Given the description of an element on the screen output the (x, y) to click on. 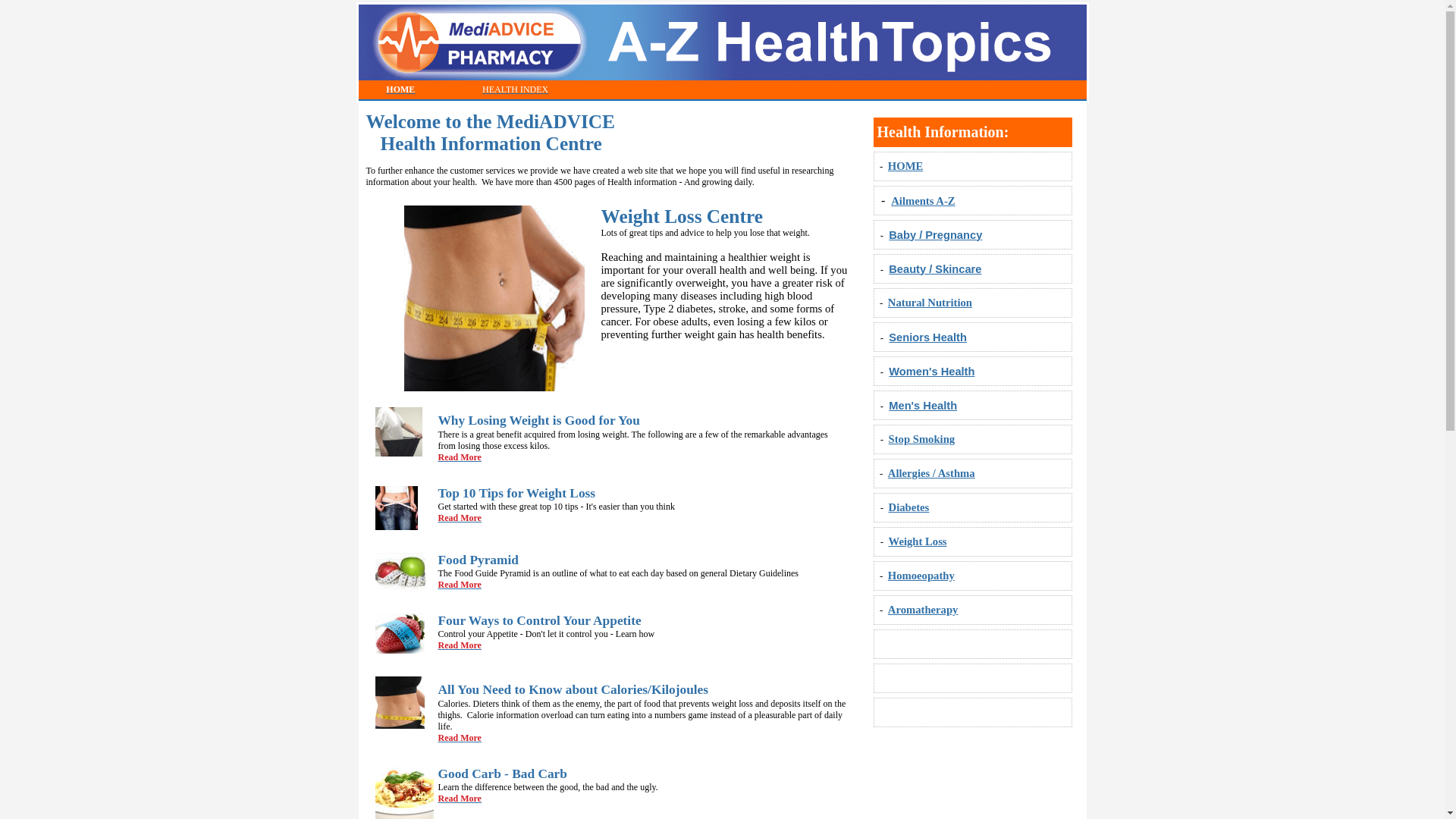
Read More Element type: text (459, 584)
Read More Element type: text (459, 645)
Homoeopathy Element type: text (921, 575)
Natural Nutrition Element type: text (930, 302)
HOME Element type: text (905, 166)
HOME Element type: text (399, 87)
y Element type: text (978, 235)
Baby / Pregnanc Element type: text (931, 235)
Women's Health Element type: text (931, 371)
Seniors Health Element type: text (927, 336)
Men's Health Element type: text (922, 404)
Stop Smoking Element type: text (921, 439)
Allergies / Asthma Element type: text (931, 473)
HEALTH INDEX Element type: text (515, 87)
Health Information Element type: text (939, 131)
Aromatherapy Element type: text (923, 609)
Weight Loss Element type: text (917, 541)
Read More Element type: text (459, 517)
Ailments A-Z Element type: text (922, 200)
Read More Element type: text (459, 737)
Beauty / Skincare Element type: text (934, 268)
Diabetes Element type: text (908, 507)
Read More Element type: text (459, 456)
Read More Element type: text (459, 798)
